Given the description of an element on the screen output the (x, y) to click on. 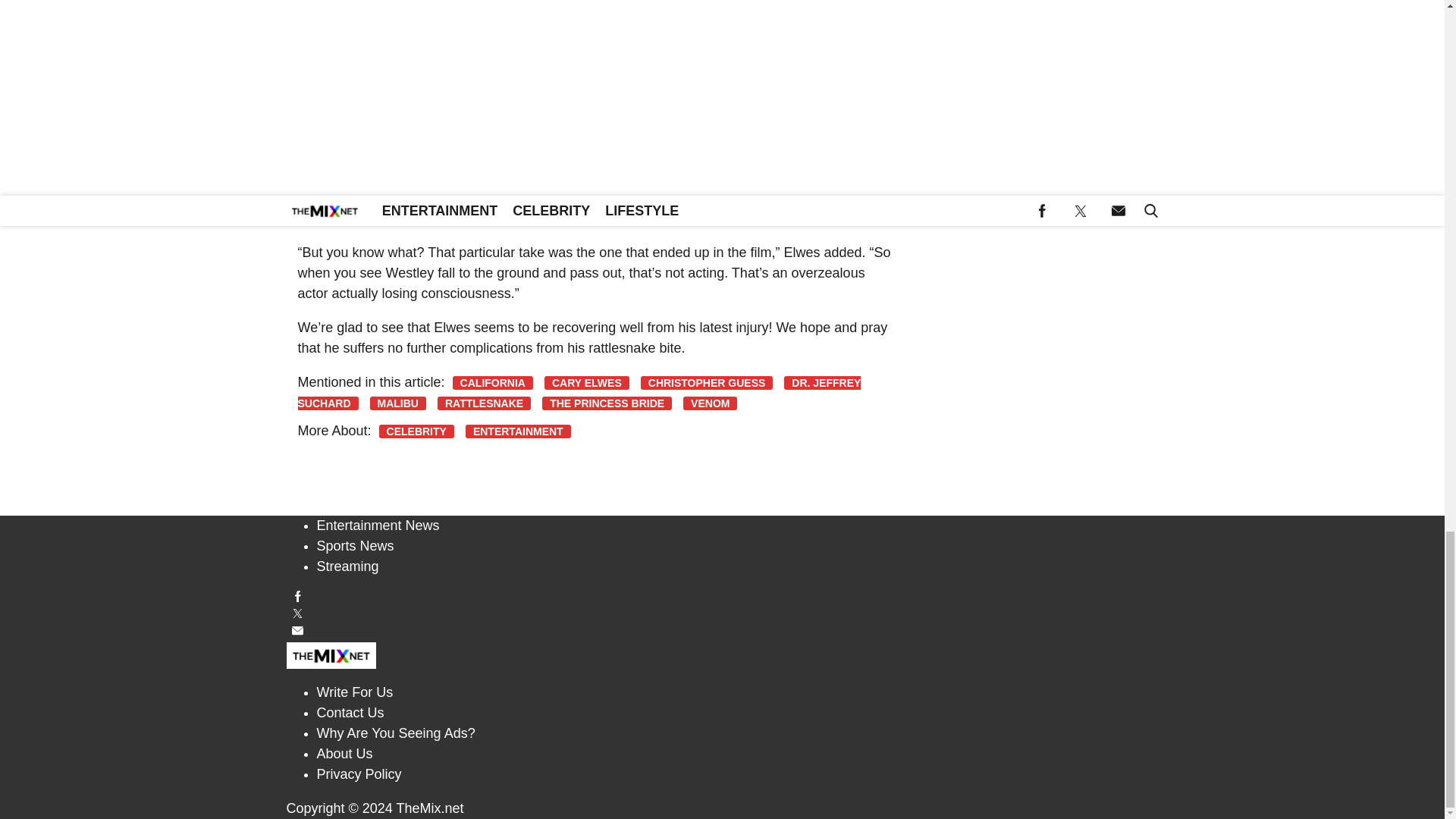
Follow us on Twitter (722, 613)
CELEBRITY (416, 431)
MALIBU (397, 403)
THE PRINCESS BRIDE (606, 403)
CALIFORNIA (492, 382)
CARY ELWES (586, 382)
CHRISTOPHER GUESS (706, 382)
RATTLESNAKE (484, 403)
People Magazine (350, 68)
Send us an email (722, 630)
